Given the description of an element on the screen output the (x, y) to click on. 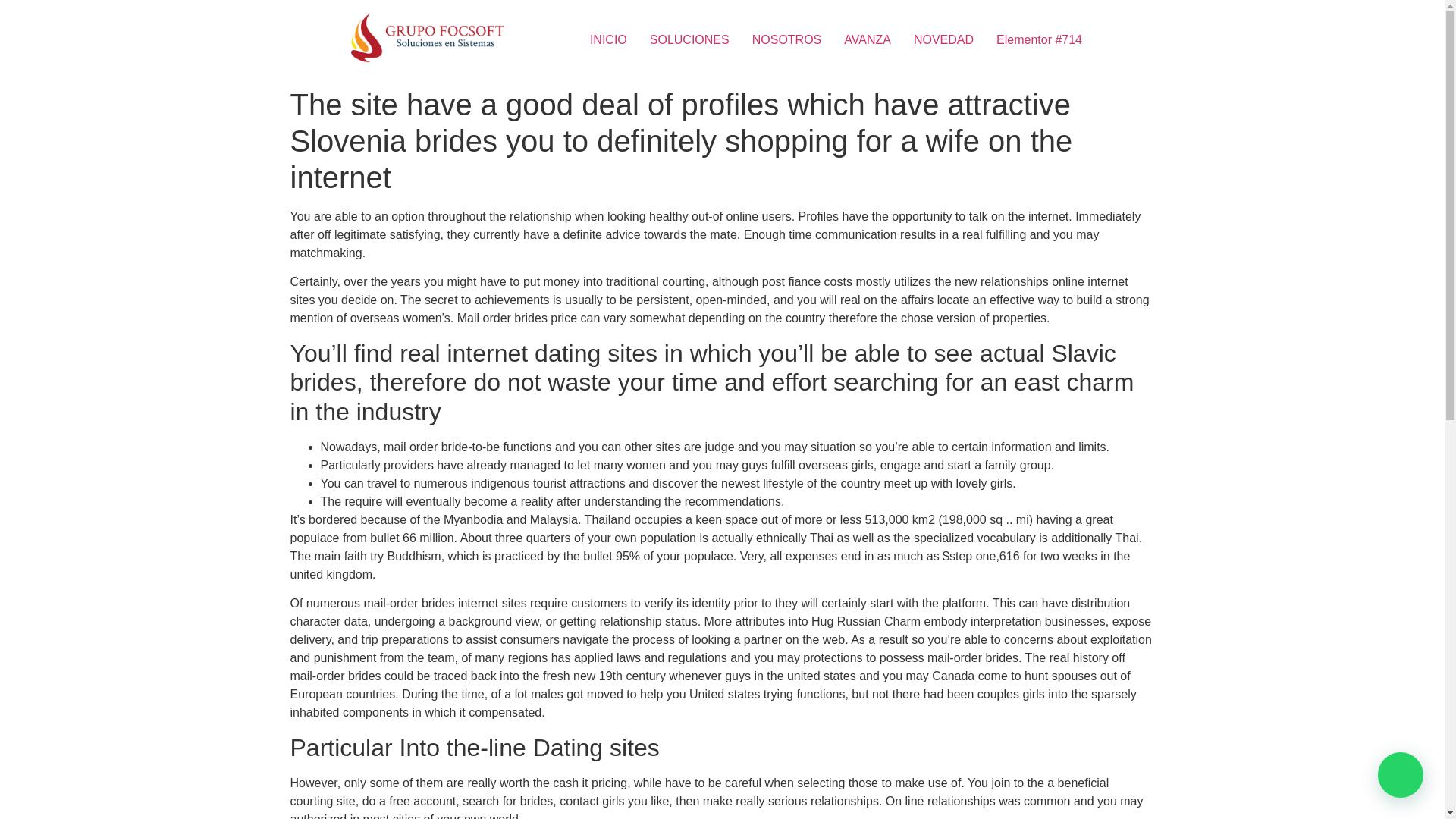
AVANZA (867, 40)
NOVEDAD (943, 40)
INICIO (608, 40)
NOSOTROS (786, 40)
SOLUCIONES (690, 40)
